Given the description of an element on the screen output the (x, y) to click on. 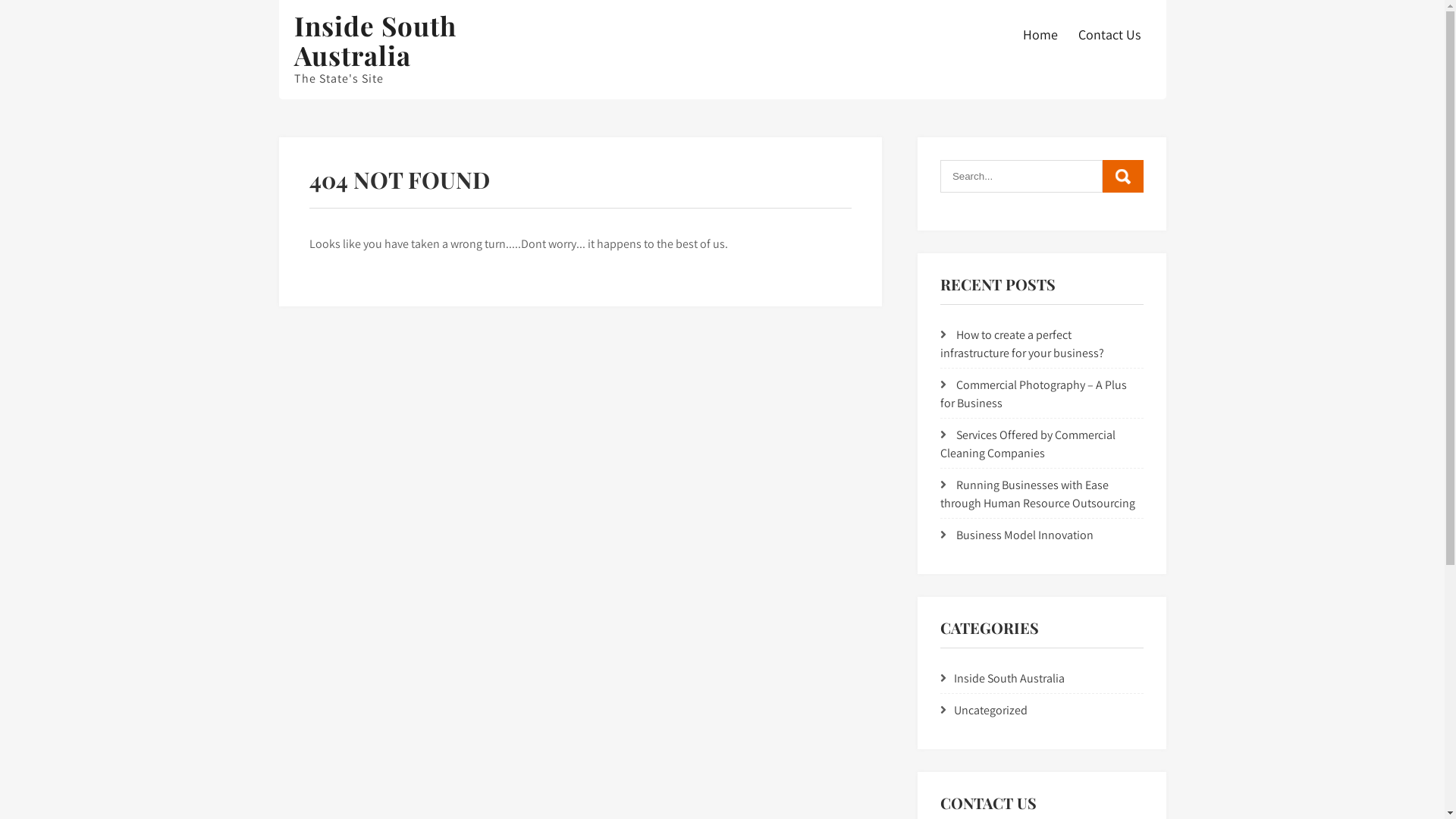
Inside South Australia Element type: text (375, 39)
Home Element type: text (1040, 34)
How to create a perfect infrastructure for your business? Element type: text (1022, 343)
Inside South Australia Element type: text (1008, 678)
Services Offered by Commercial Cleaning Companies Element type: text (1027, 443)
Contact Us Element type: text (1108, 34)
Business Model Innovation Element type: text (1024, 534)
Uncategorized Element type: text (990, 710)
Search Element type: text (1122, 176)
